Given the description of an element on the screen output the (x, y) to click on. 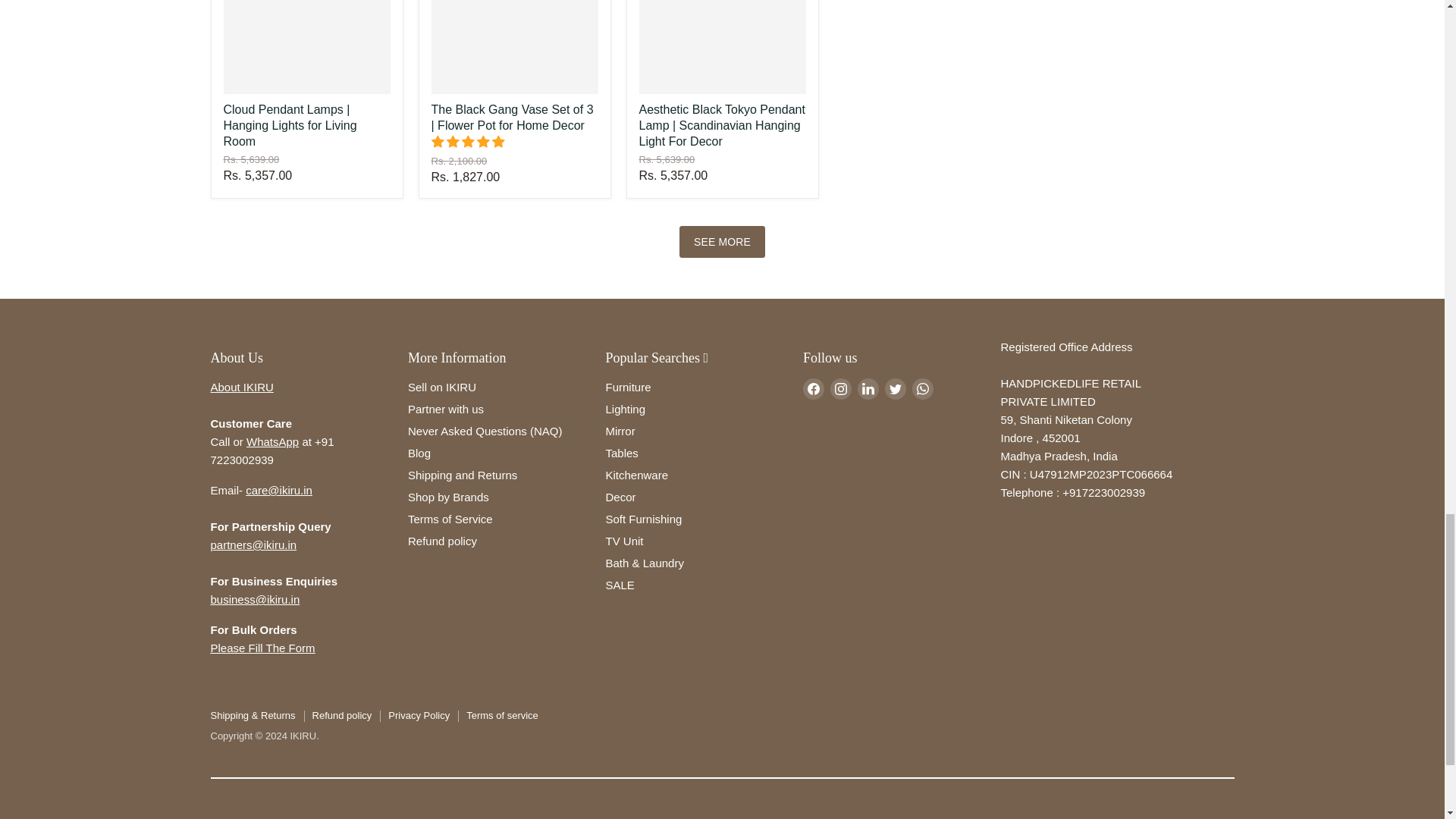
LinkedIn (868, 388)
Instagram (840, 388)
WhatsApp (922, 388)
Twitter (895, 388)
Facebook (813, 388)
About us (242, 386)
